Given the description of an element on the screen output the (x, y) to click on. 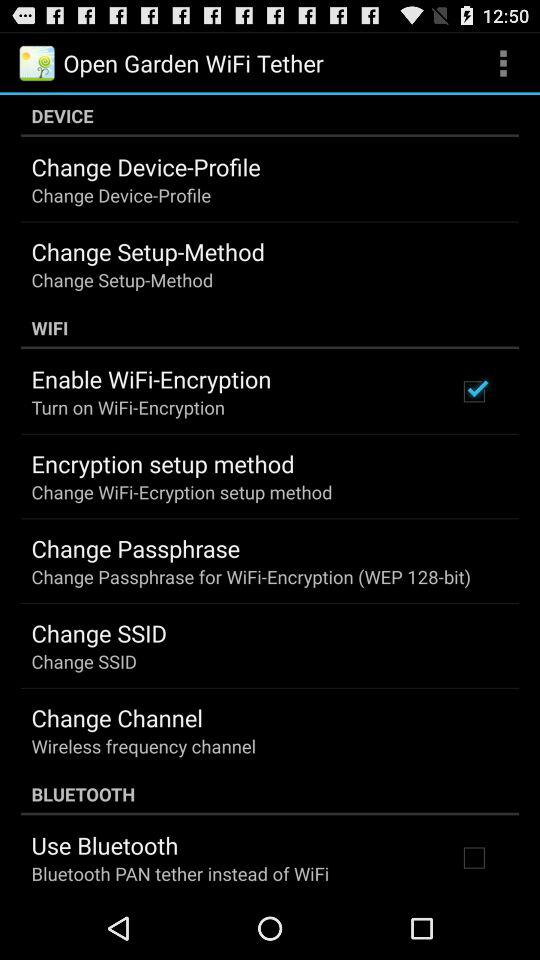
jump to change channel (116, 717)
